Given the description of an element on the screen output the (x, y) to click on. 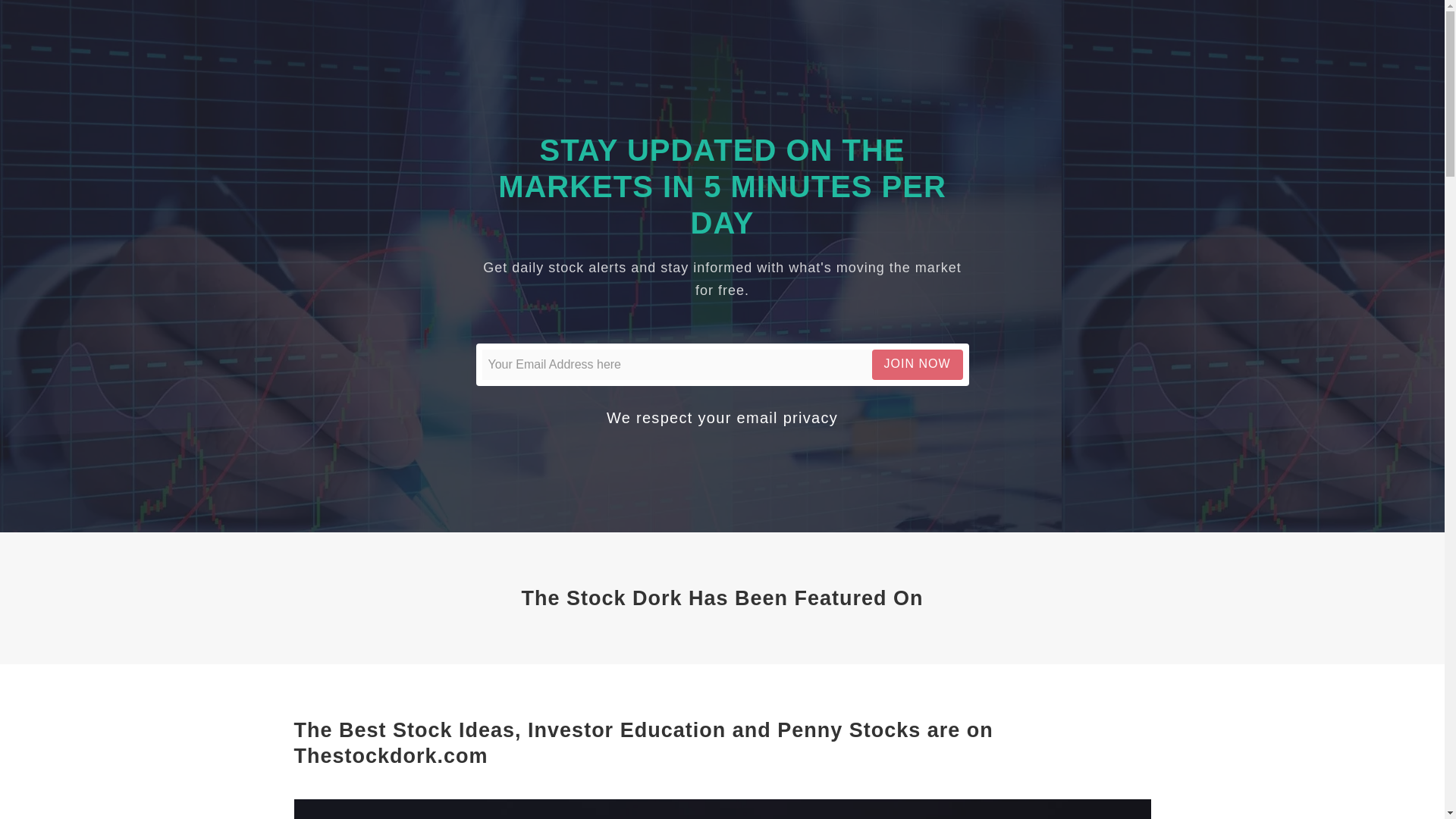
Privacy Policy (787, 417)
email privacy (787, 417)
Join Now (917, 363)
Join Now (917, 363)
